Given the description of an element on the screen output the (x, y) to click on. 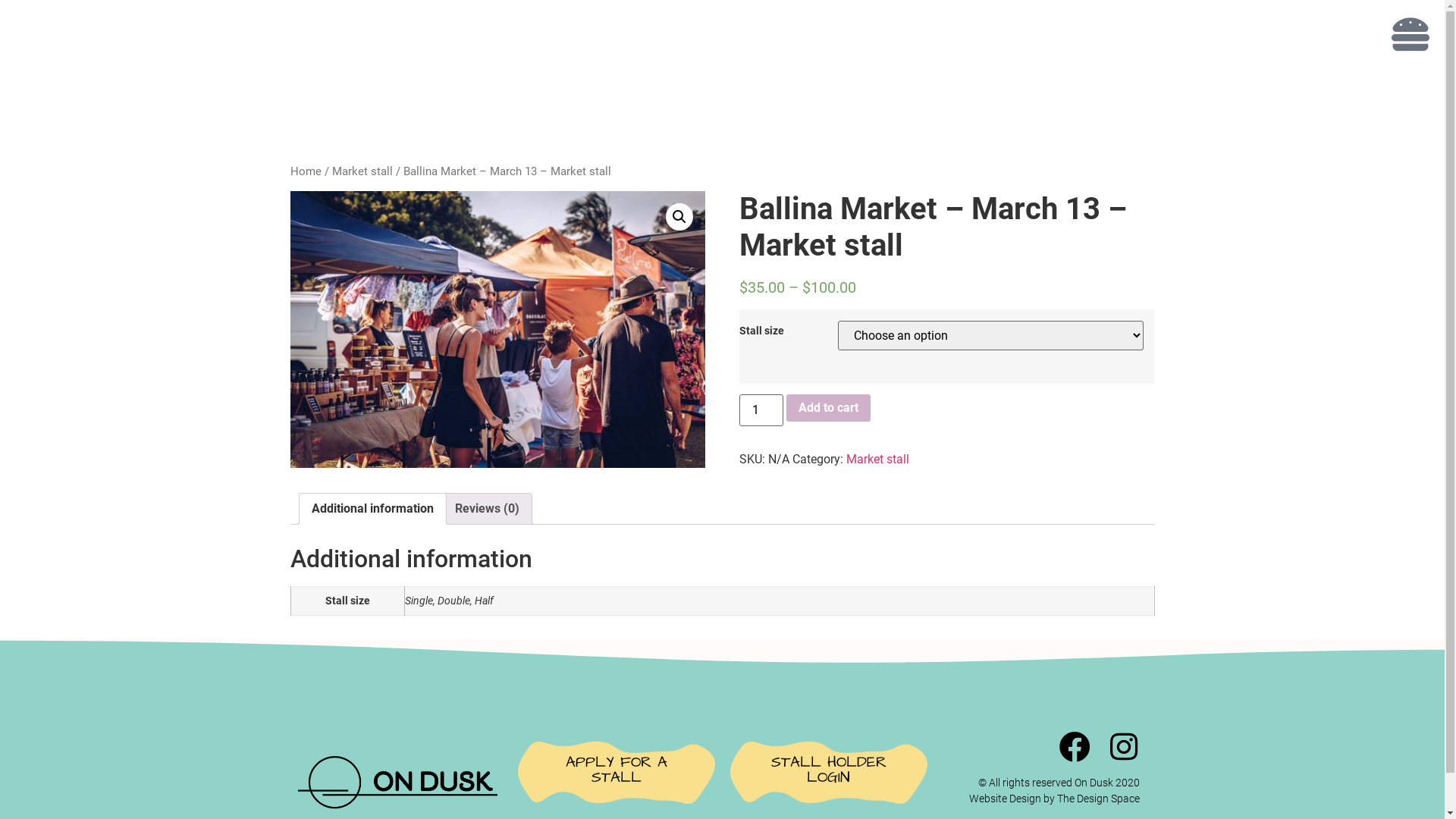
Add to cart Element type: text (828, 407)
APPLY FOR A STALL Element type: text (615, 757)
STALL HOLDER LOGIN Element type: text (828, 757)
Market stall Element type: text (362, 171)
Reviews (0) Element type: text (487, 508)
Market stall Element type: text (877, 458)
Additional information Element type: text (371, 508)
Qty Element type: hover (761, 410)
Stalls_Circle_White Element type: hover (83, 81)
Website Design by The Design Space Element type: text (1054, 798)
Home Element type: text (304, 171)
MarketsOnDusk-38-copy Element type: hover (496, 329)
